Given the description of an element on the screen output the (x, y) to click on. 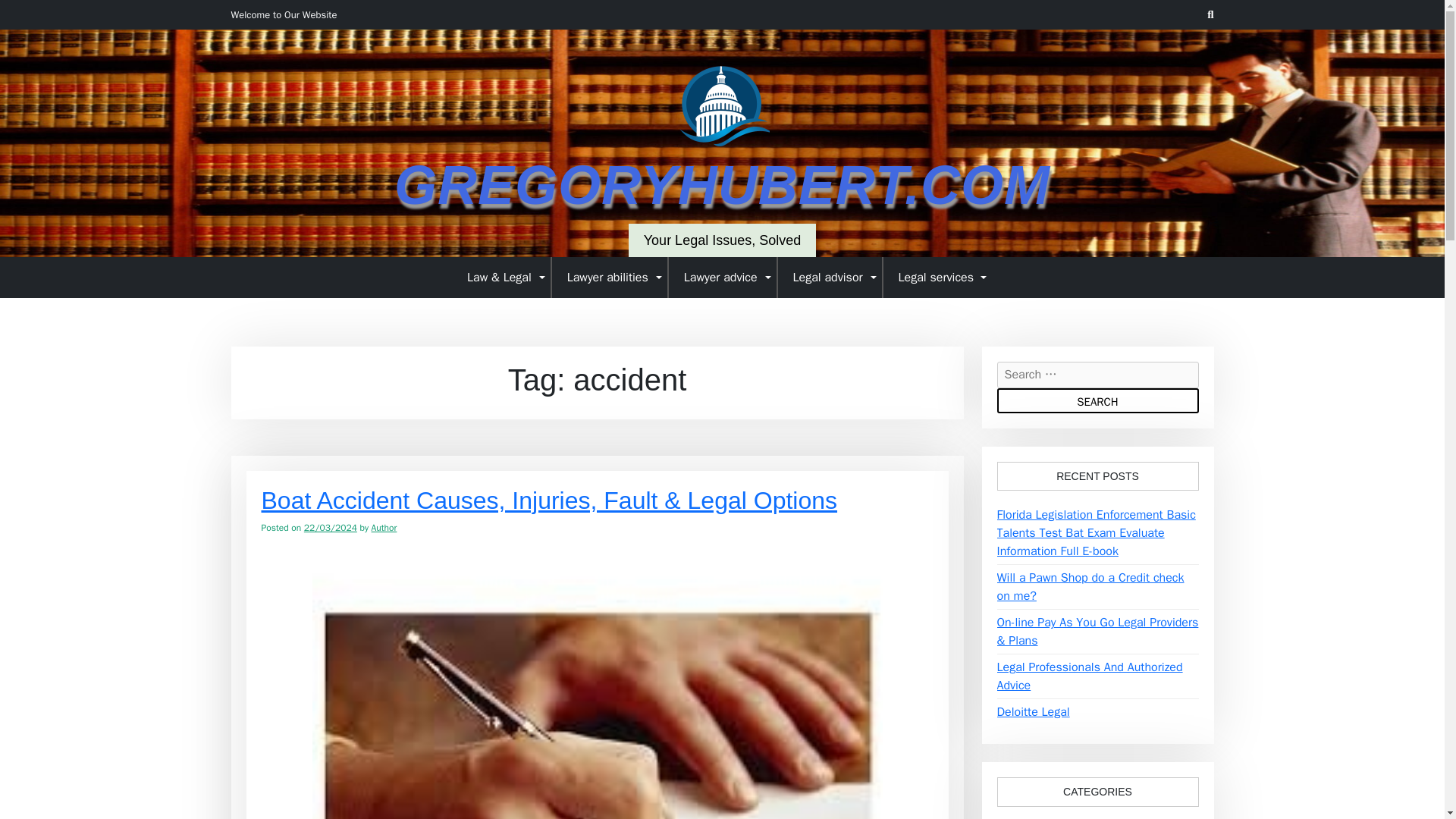
GREGORYHUBERT.COM (721, 184)
Search (1096, 400)
Legal services (937, 276)
Search (1096, 400)
Legal advisor (829, 276)
Lawyer abilities (609, 276)
Lawyer advice (722, 276)
